Given the description of an element on the screen output the (x, y) to click on. 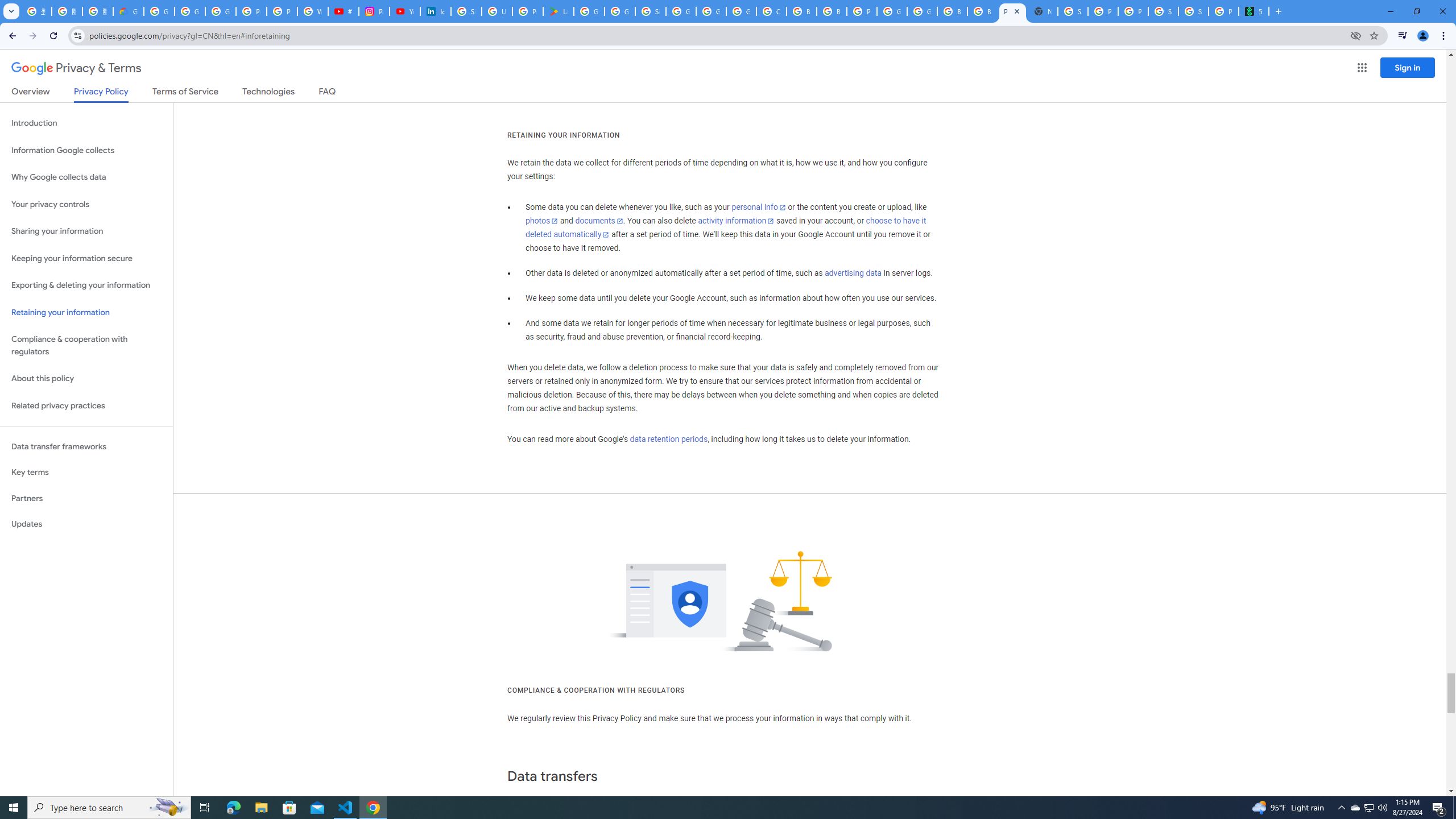
Google Cloud Platform (922, 11)
Terms of Service (184, 93)
Updates (86, 524)
Data transfer frameworks (86, 446)
photos (542, 221)
Browse Chrome as a guest - Computer - Google Chrome Help (830, 11)
choose to have it deleted automatically (725, 227)
